Given the description of an element on the screen output the (x, y) to click on. 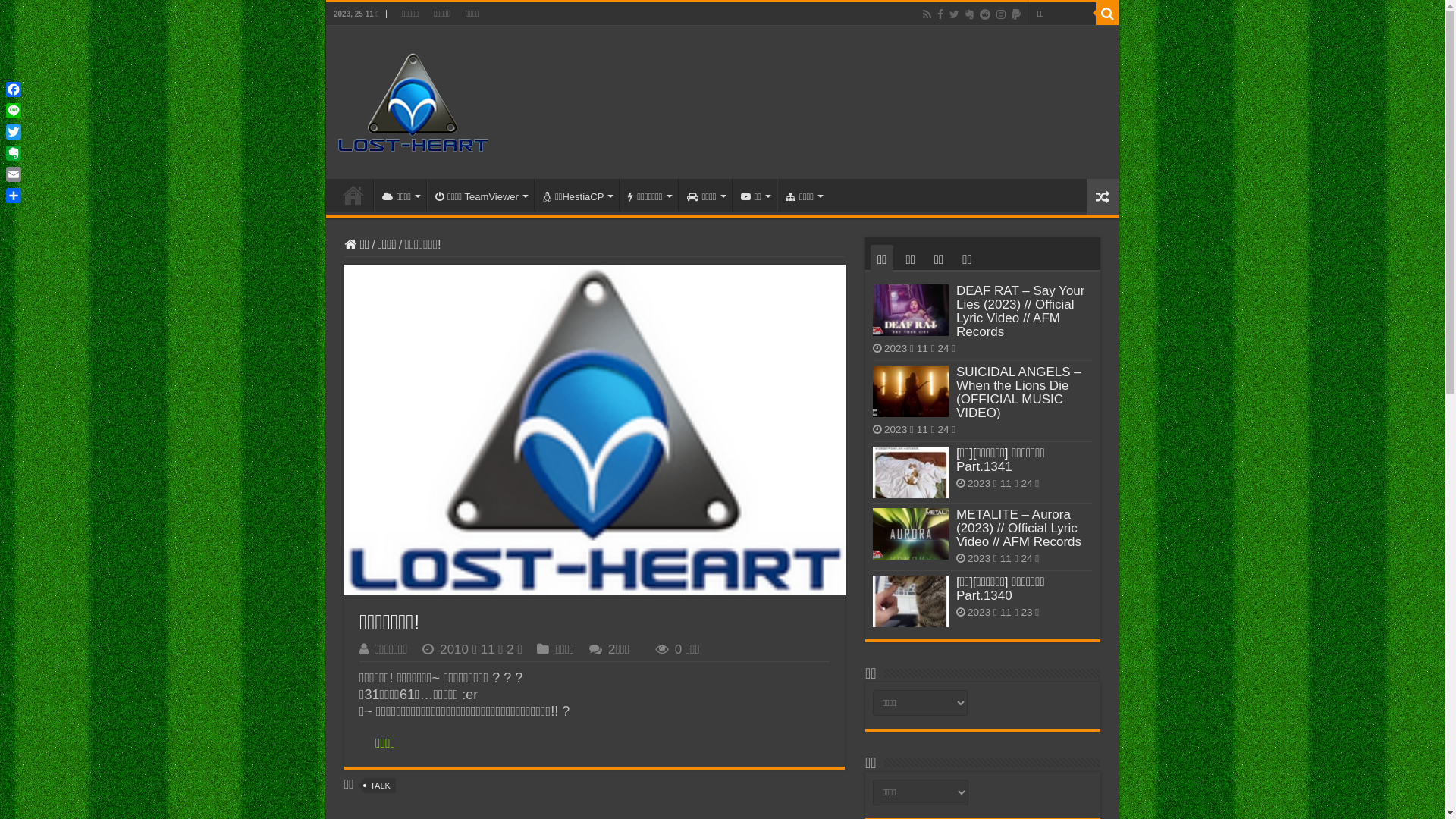
Twitter Element type: text (13, 131)
Facebook Element type: text (13, 89)
Rss Element type: hover (926, 14)
paypal Element type: hover (1016, 14)
instagram Element type: hover (1000, 14)
Facebook Element type: hover (939, 14)
Evernote Element type: text (13, 152)
TALK Element type: text (379, 785)
Reddit Element type: hover (984, 14)
Email Element type: text (13, 174)
Line Element type: text (13, 110)
Twitter Element type: hover (953, 14)
Evernote Element type: hover (969, 14)
